Given the description of an element on the screen output the (x, y) to click on. 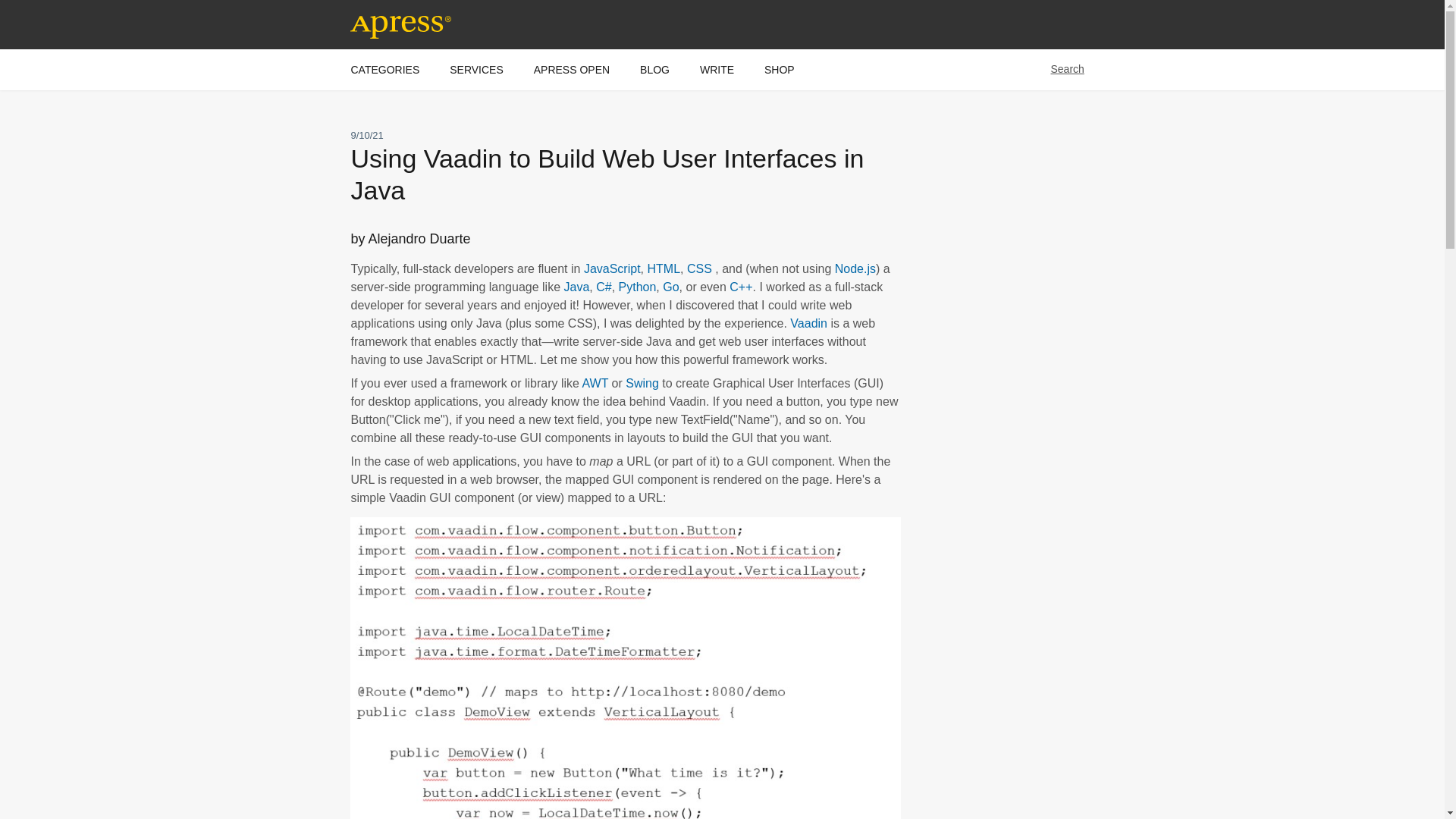
APRESS OPEN (572, 69)
CATEGORIES (384, 69)
Apress (464, 24)
SERVICES (476, 69)
BLOG (654, 69)
